Given the description of an element on the screen output the (x, y) to click on. 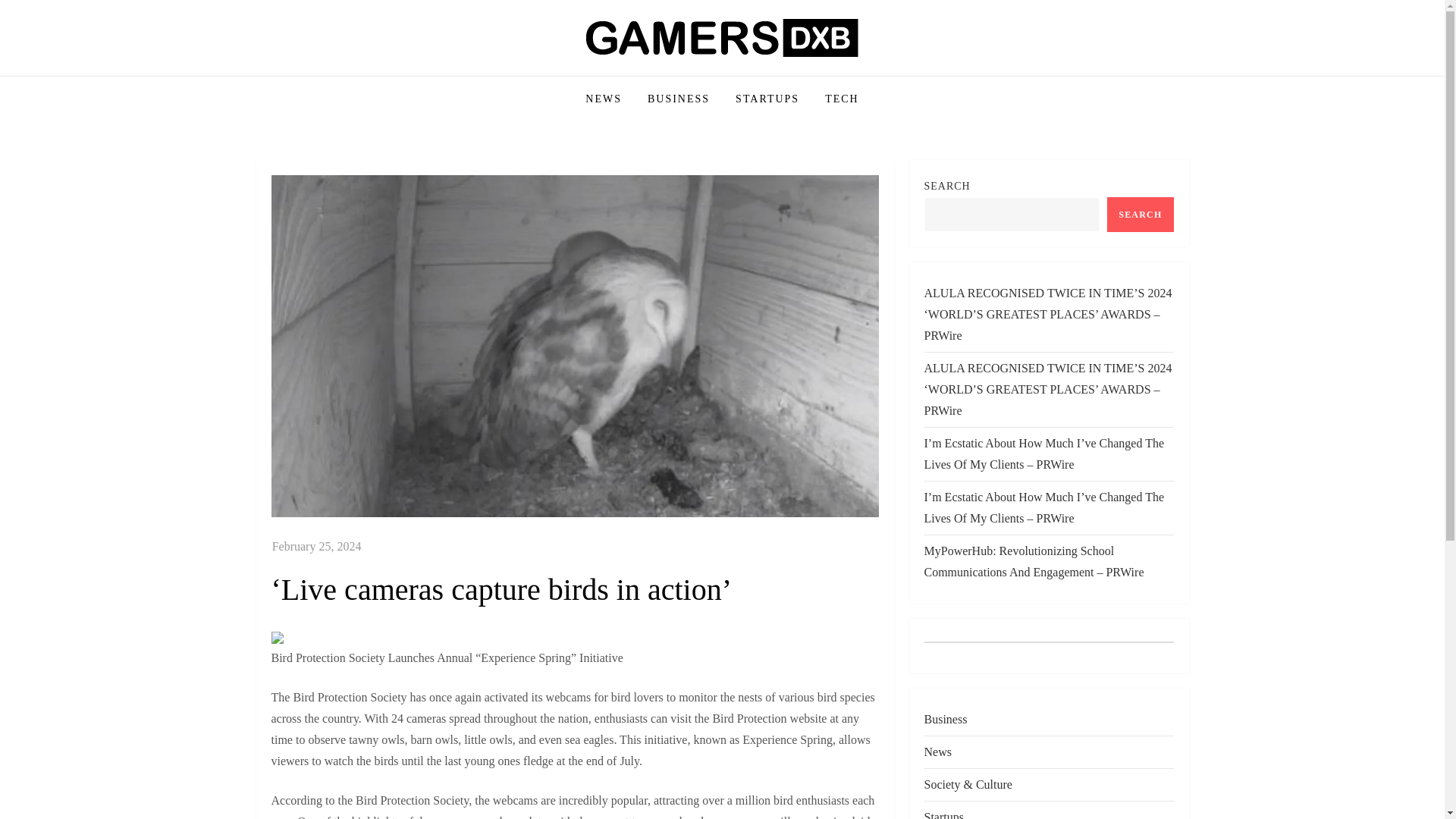
February 25, 2024 (316, 545)
SEARCH (1139, 214)
NEWS (603, 99)
News (936, 752)
Gamers DXB (339, 74)
TECH (841, 99)
Business (944, 719)
BUSINESS (678, 99)
STARTUPS (766, 99)
Startups (942, 812)
